Given the description of an element on the screen output the (x, y) to click on. 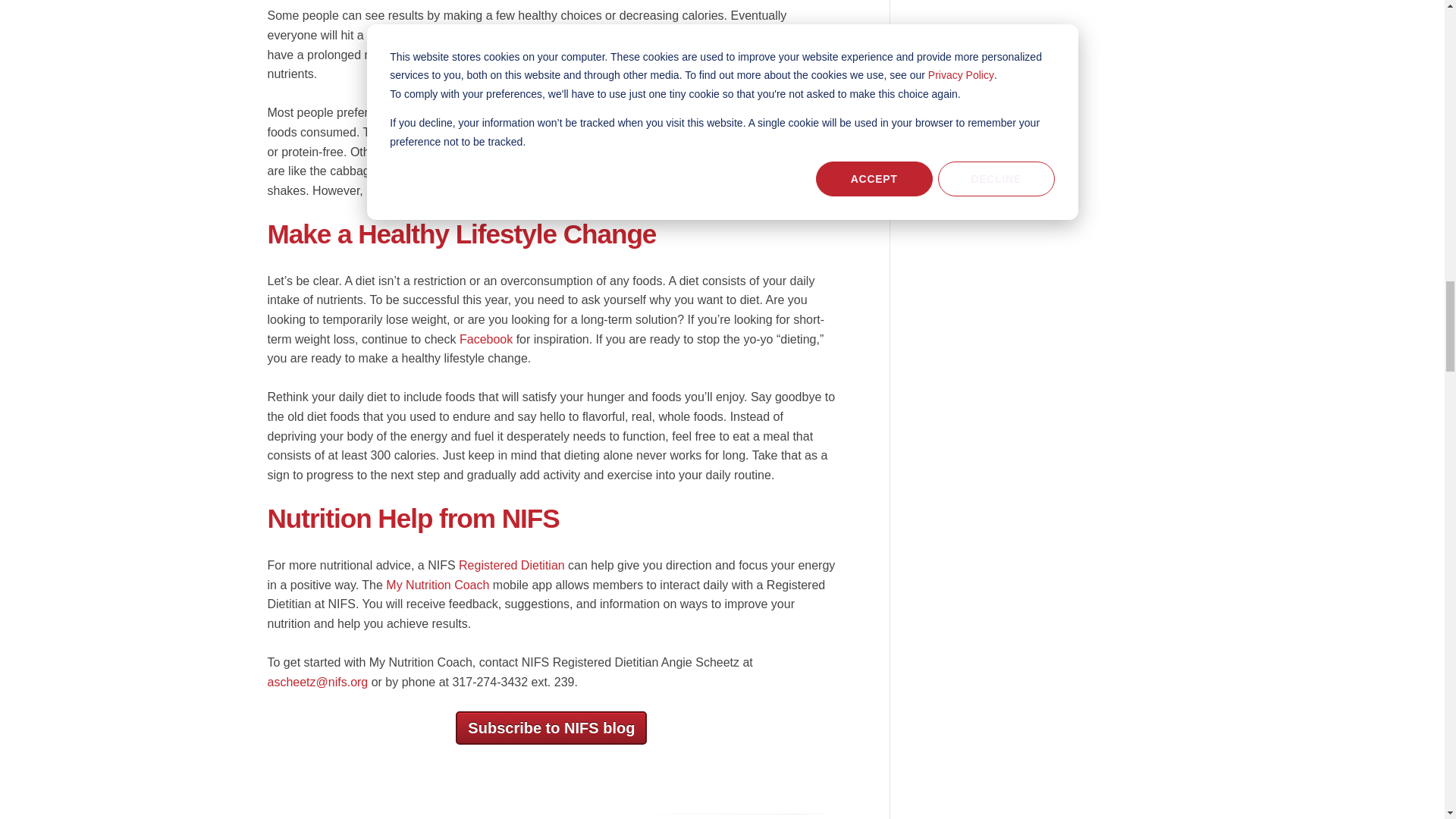
Subscribe to NIFS blog (550, 727)
